Given the description of an element on the screen output the (x, y) to click on. 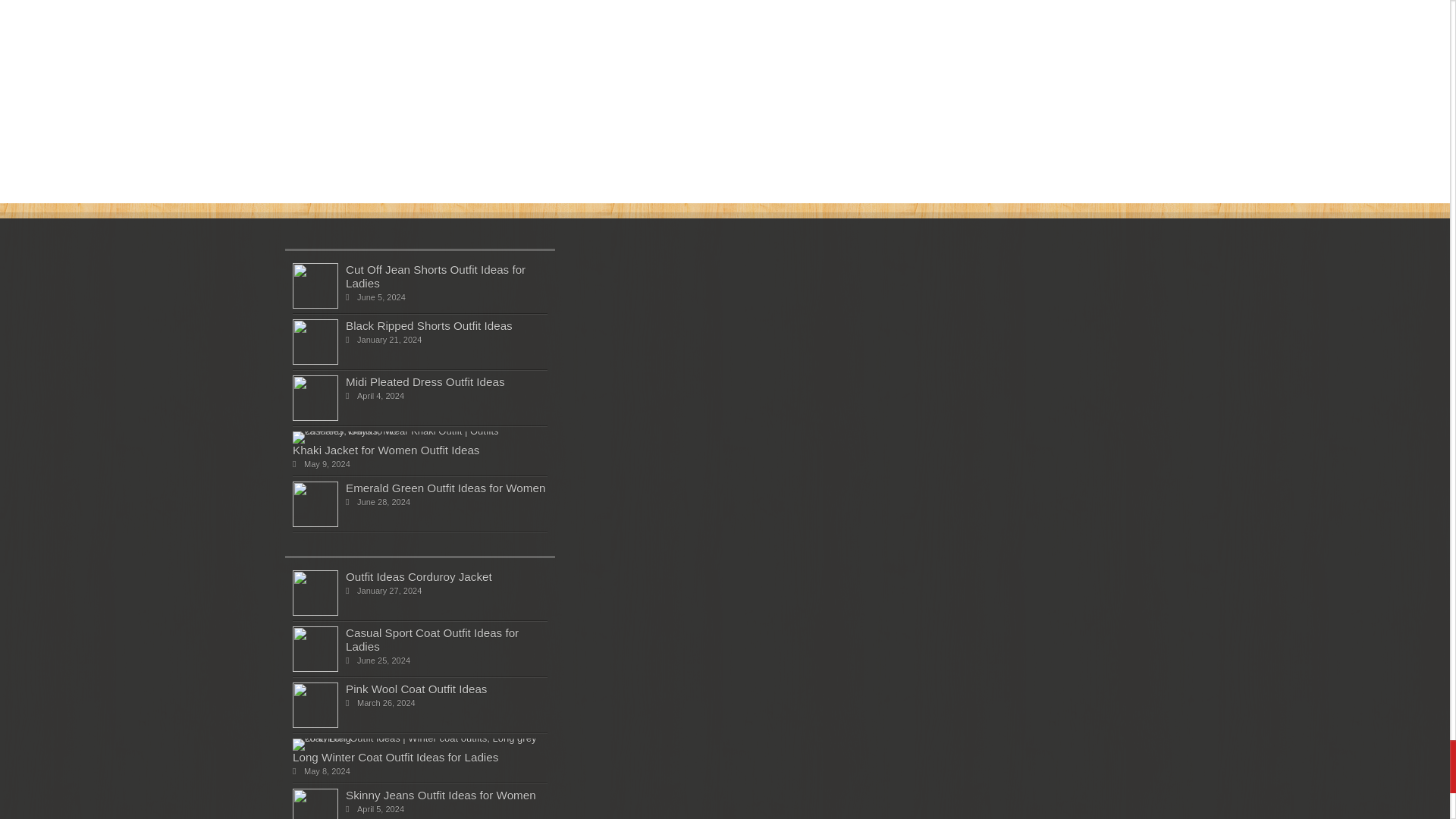
Black Ripped Shorts Outfit Ideas (429, 325)
Cut Off Jean Shorts Outfit Ideas for Ladies (314, 360)
Midi Pleated Dress Outfit Ideas (435, 275)
